Given the description of an element on the screen output the (x, y) to click on. 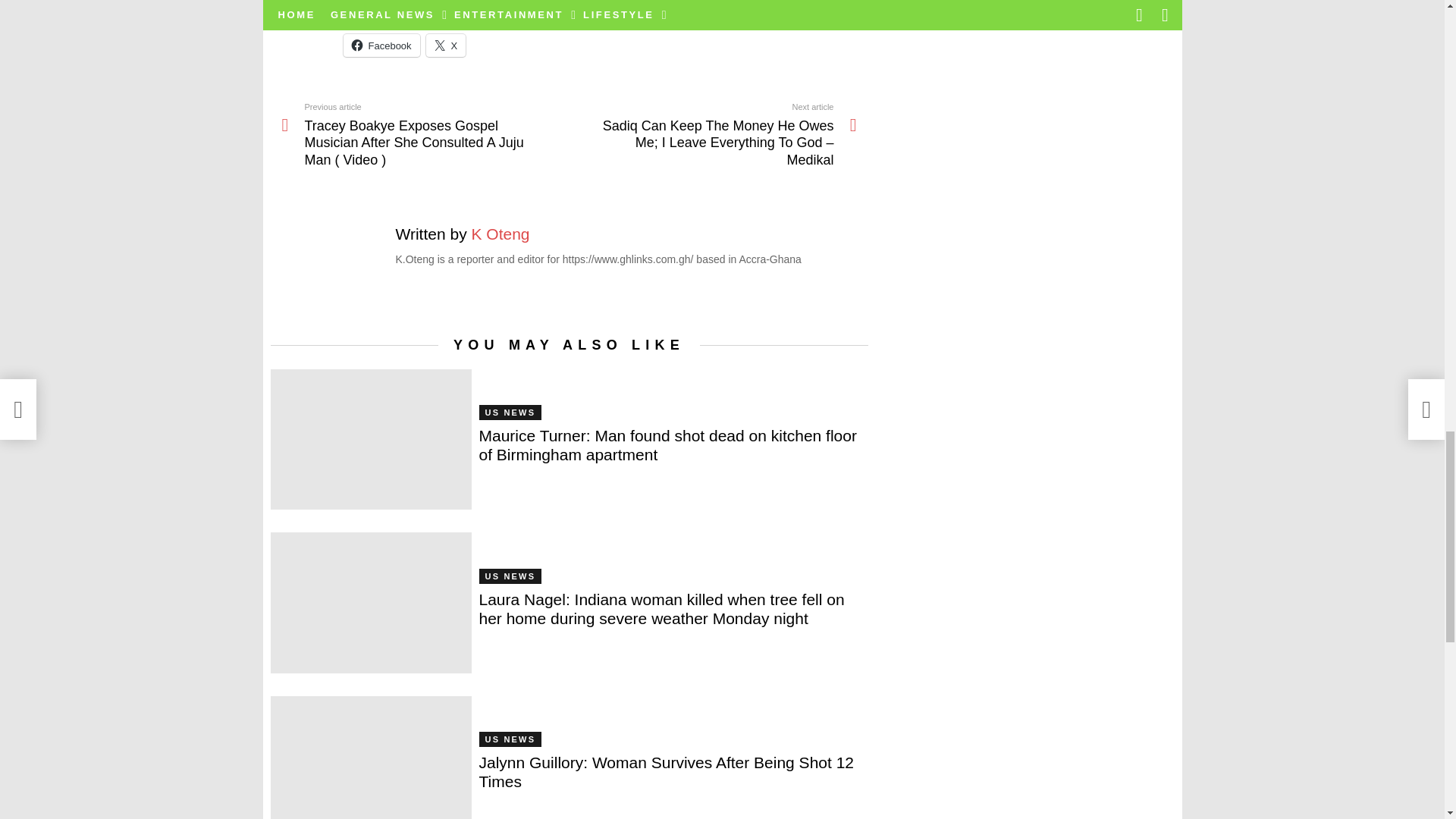
Facebook (380, 45)
US NEWS (510, 412)
K Oteng (499, 233)
Click to share on Facebook (380, 45)
Click to share on X (445, 45)
X (445, 45)
Jalynn Guillory: Woman Survives After Being Shot 12 Times (369, 757)
